Given the description of an element on the screen output the (x, y) to click on. 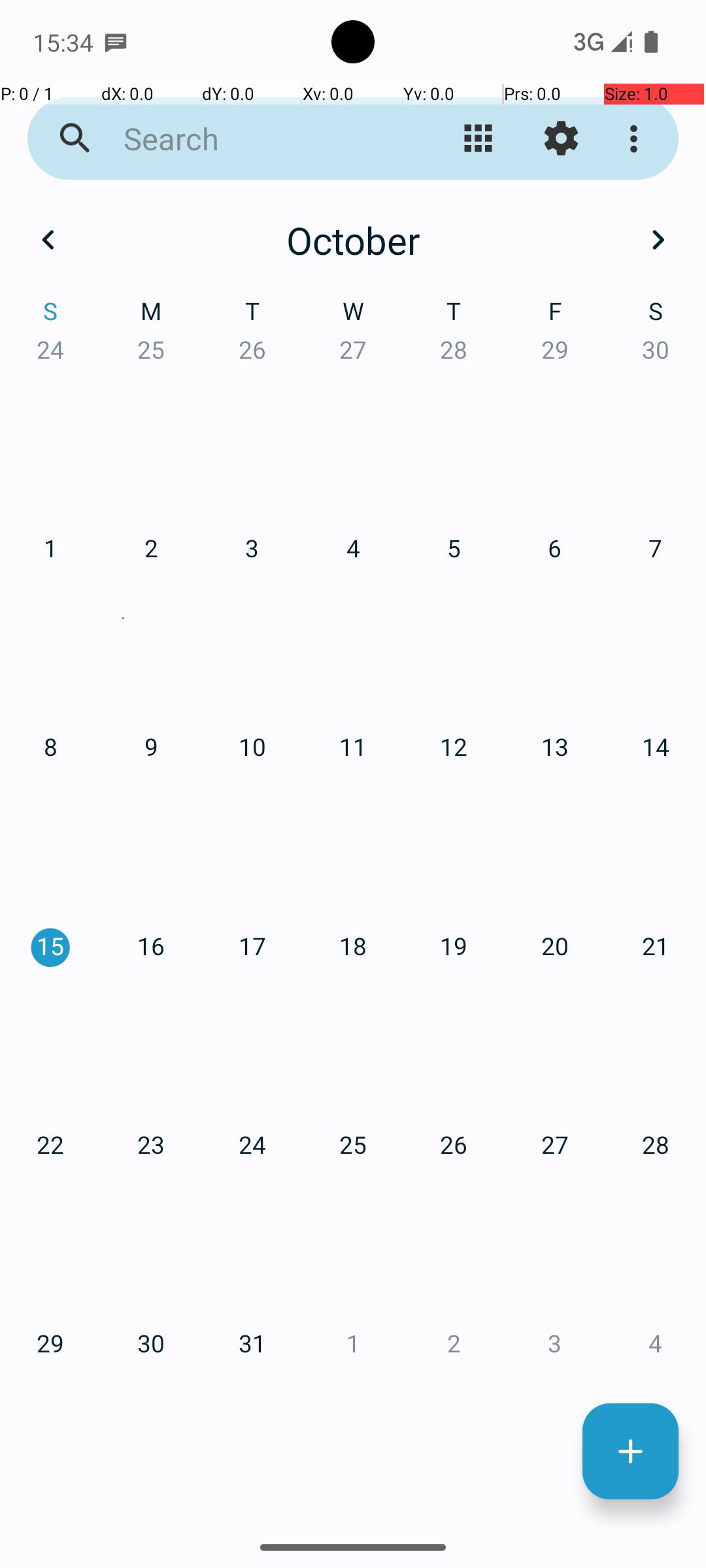
SMS Messenger notification: +10214033213 Element type: android.widget.ImageView (115, 41)
